Given the description of an element on the screen output the (x, y) to click on. 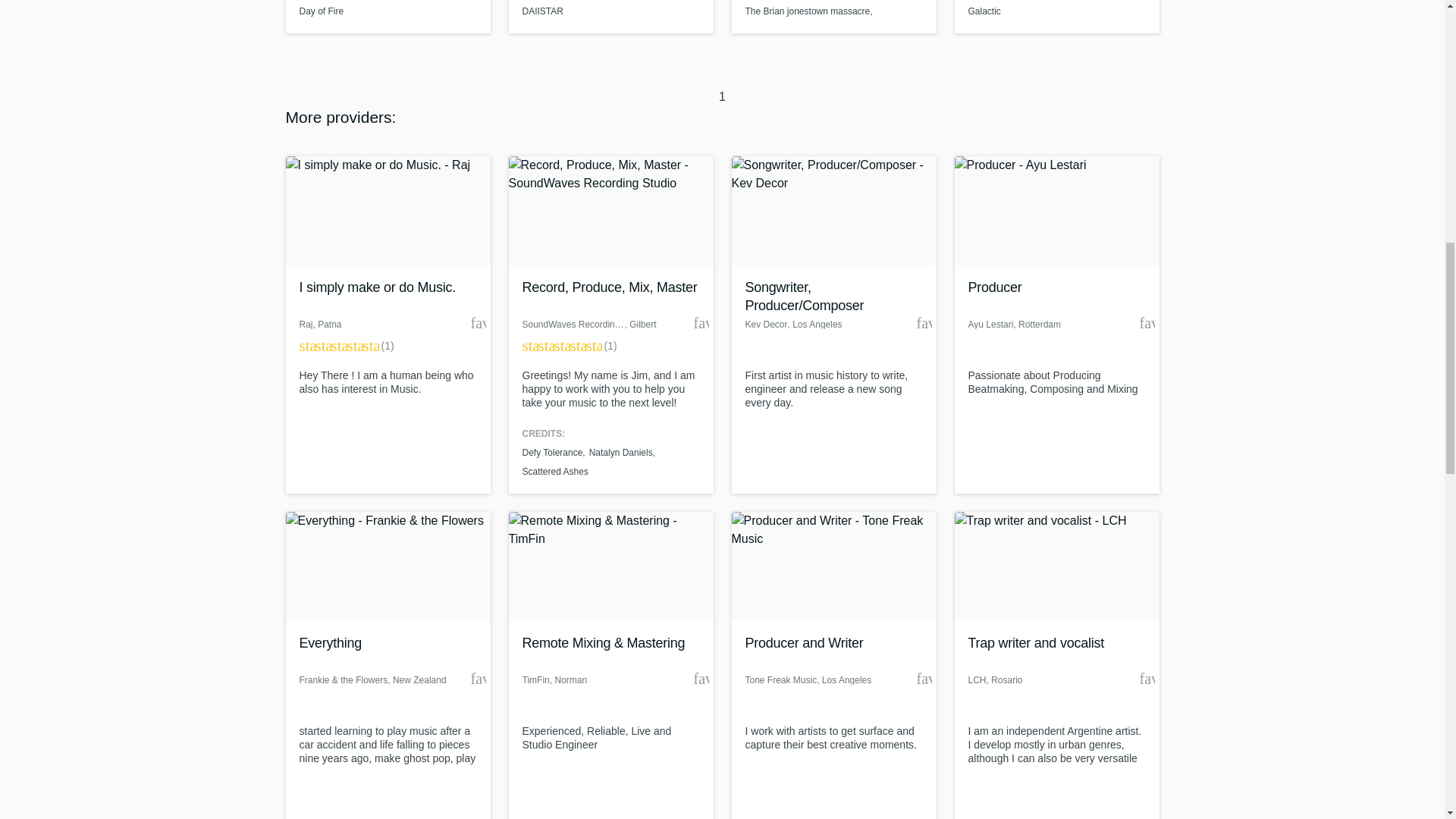
Add to favorites (477, 322)
Add to favorites (923, 322)
Add to favorites (700, 322)
Add to favorites (1146, 322)
